Given the description of an element on the screen output the (x, y) to click on. 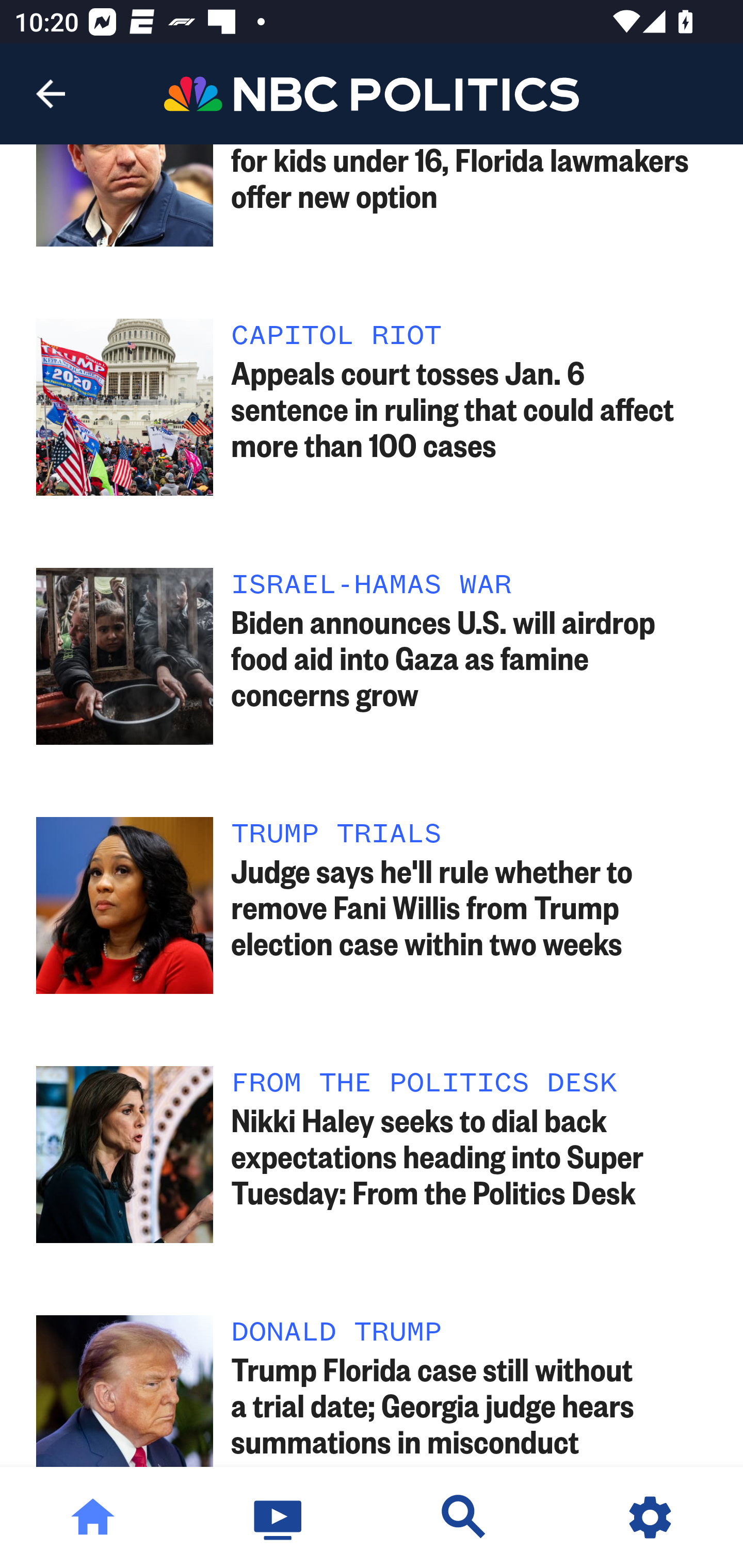
Navigate up (50, 93)
Watch (278, 1517)
Discover (464, 1517)
Settings (650, 1517)
